Given the description of an element on the screen output the (x, y) to click on. 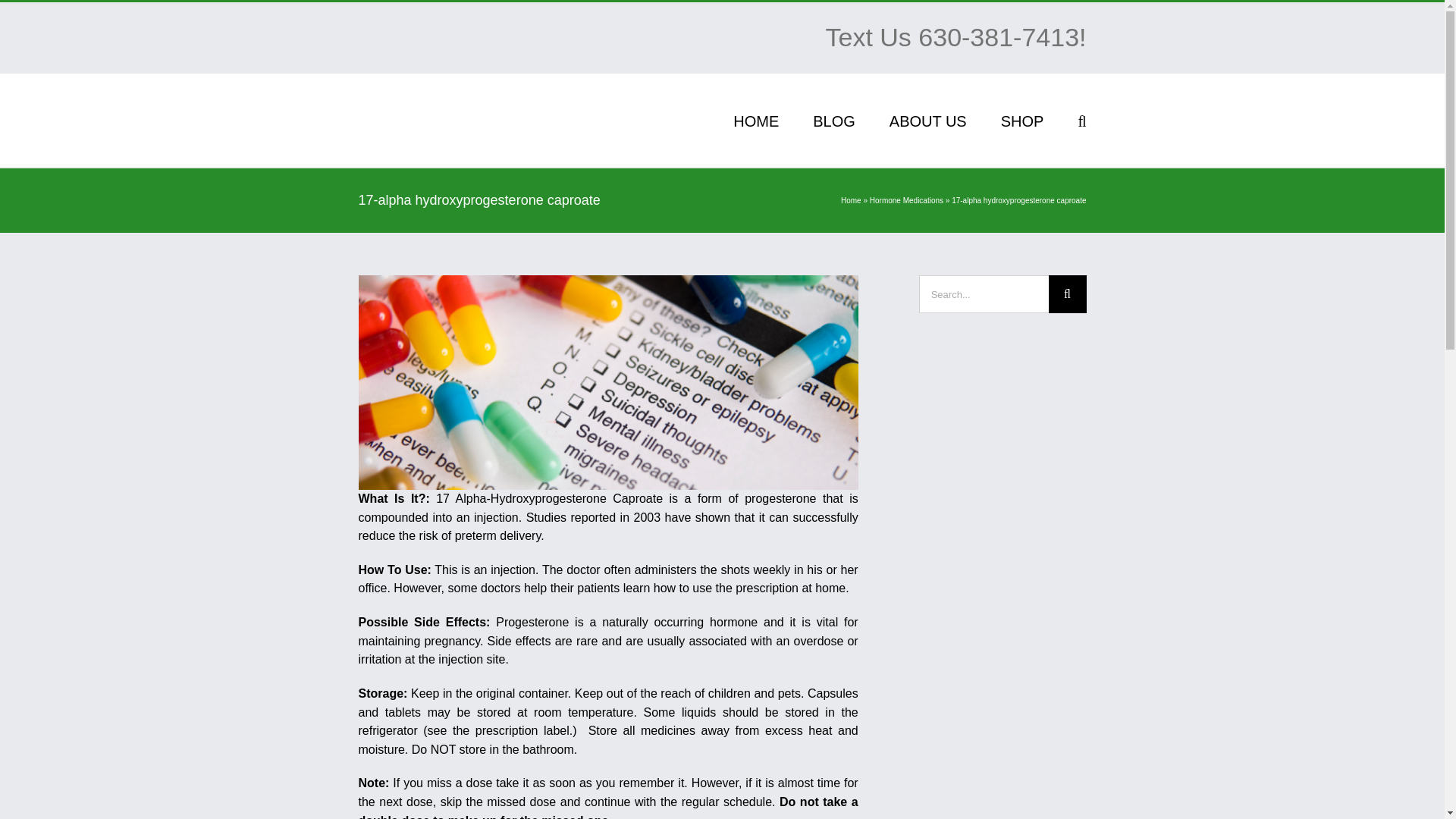
Text Us 630-381-7413! (955, 36)
Home (851, 200)
Hormone Medications (906, 200)
